Given the description of an element on the screen output the (x, y) to click on. 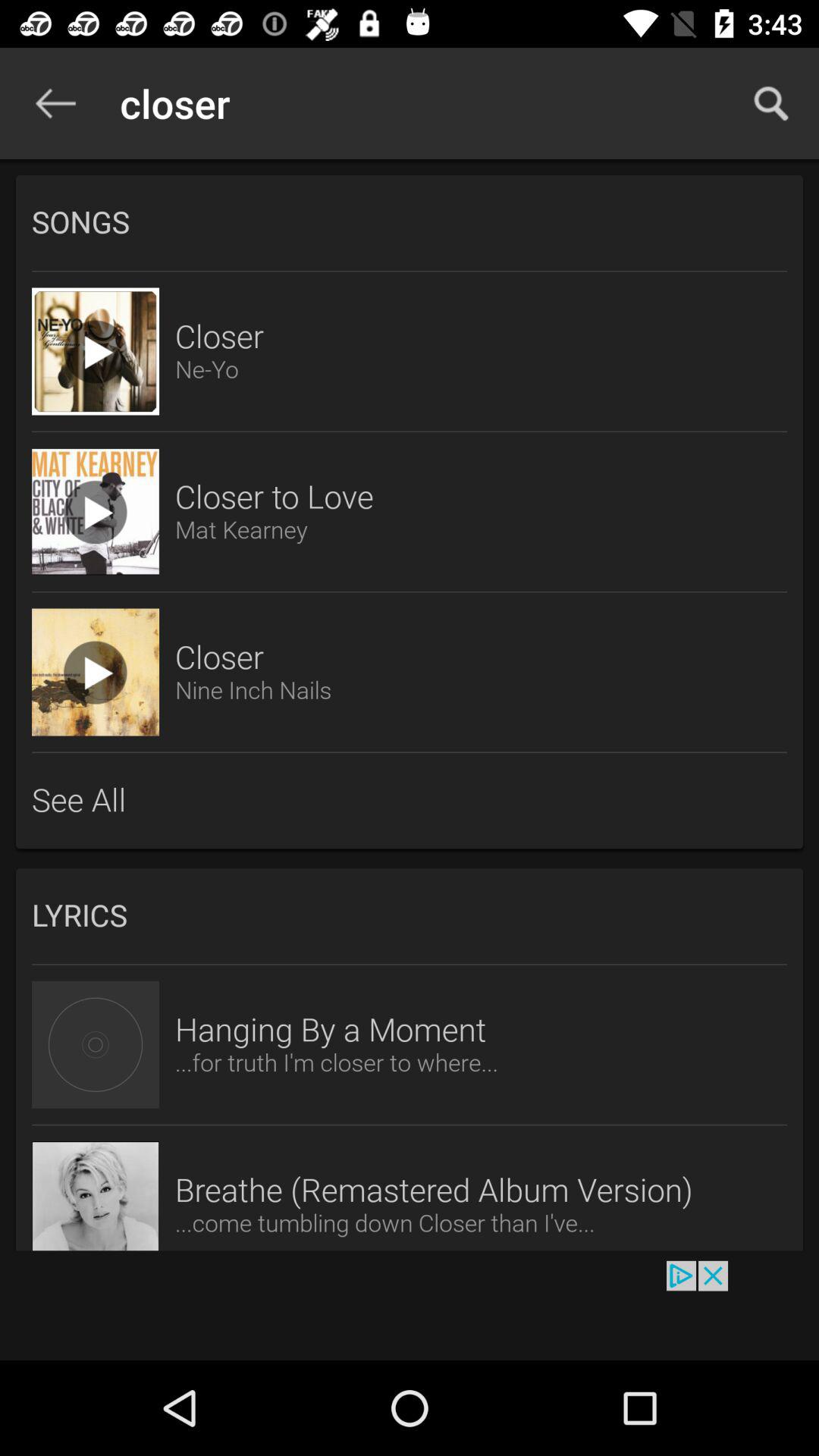
play closer by ne-ya (95, 351)
